Given the description of an element on the screen output the (x, y) to click on. 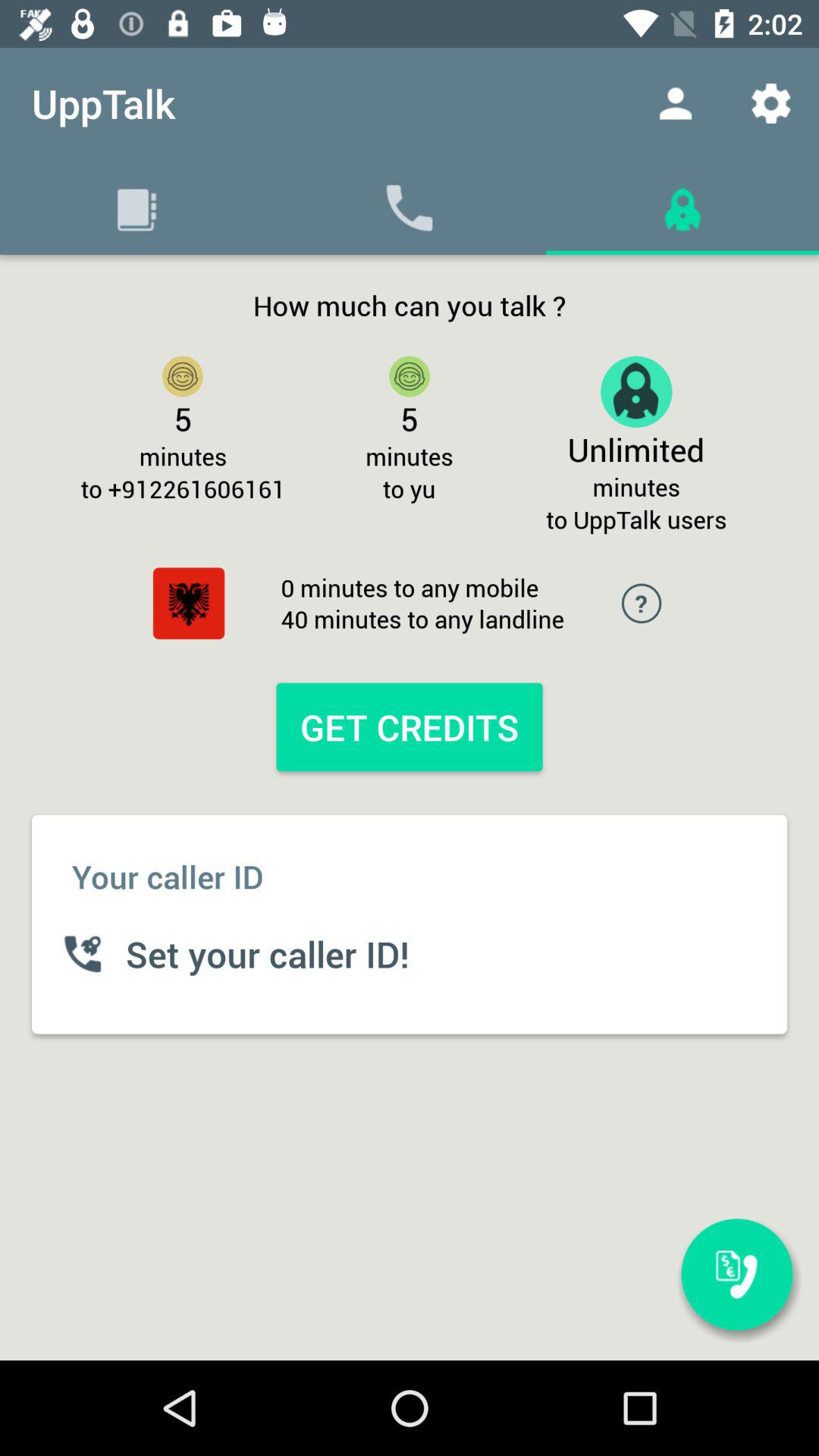
launch the item to the right of the upptalk app (675, 103)
